Given the description of an element on the screen output the (x, y) to click on. 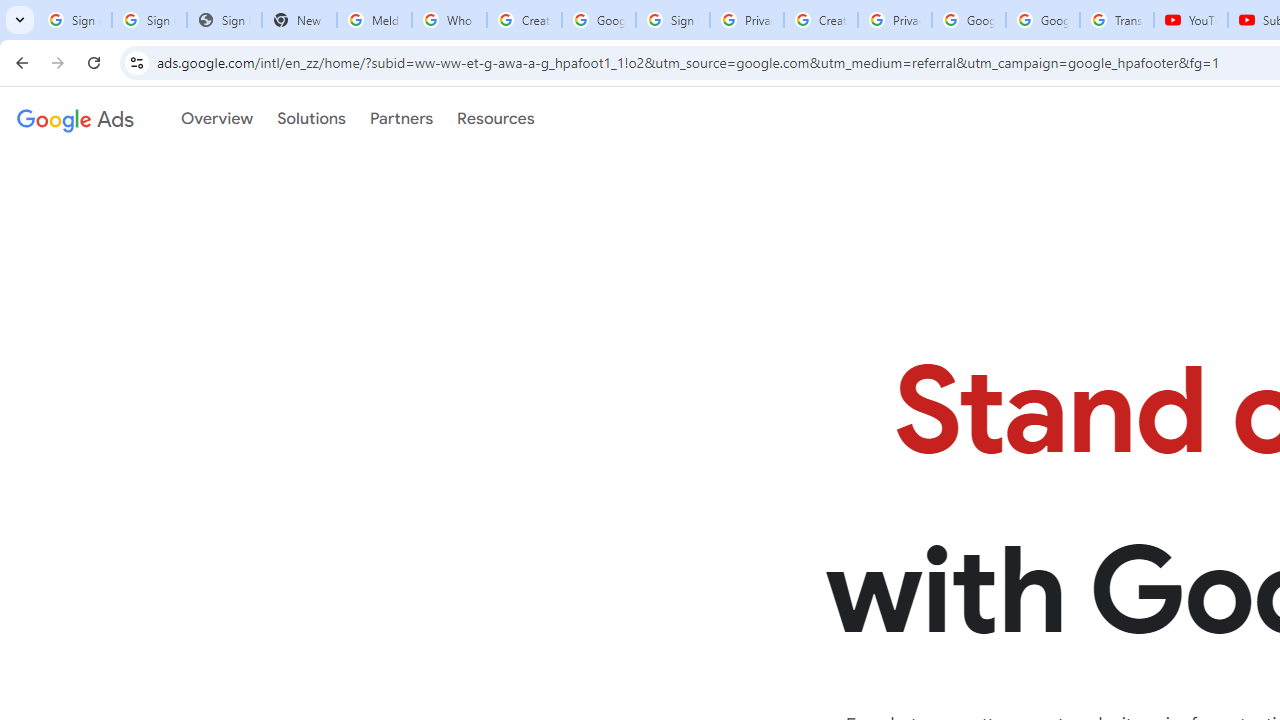
Sign in - Google Accounts (148, 20)
Create your Google Account (523, 20)
YouTube (1190, 20)
New Tab (299, 20)
Google Ads (75, 119)
